Given the description of an element on the screen output the (x, y) to click on. 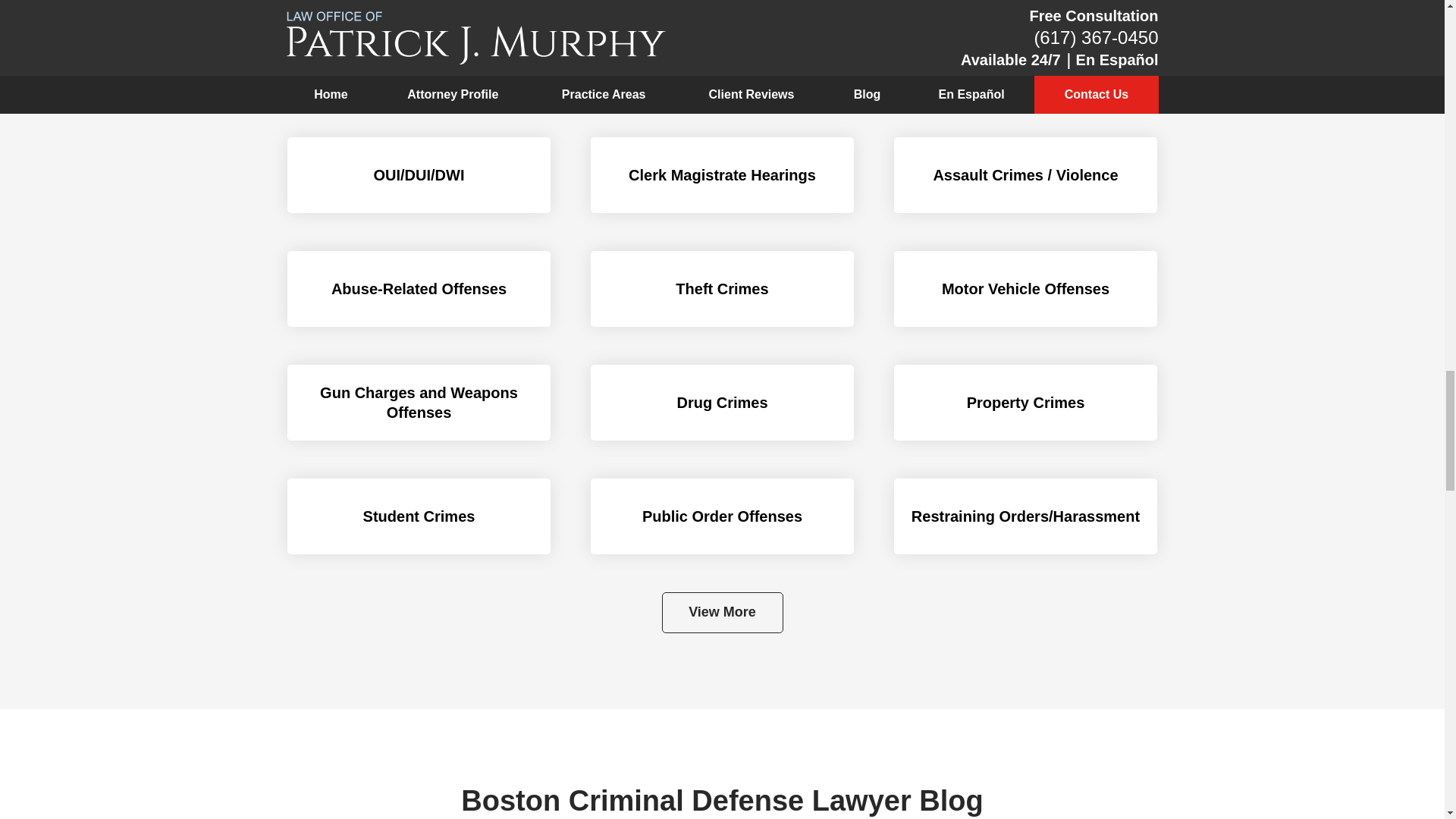
Clerk Magistrate Hearings (722, 174)
Theft Crimes (722, 288)
Abuse-Related Offenses (418, 288)
Criminal Defense (722, 82)
